Given the description of an element on the screen output the (x, y) to click on. 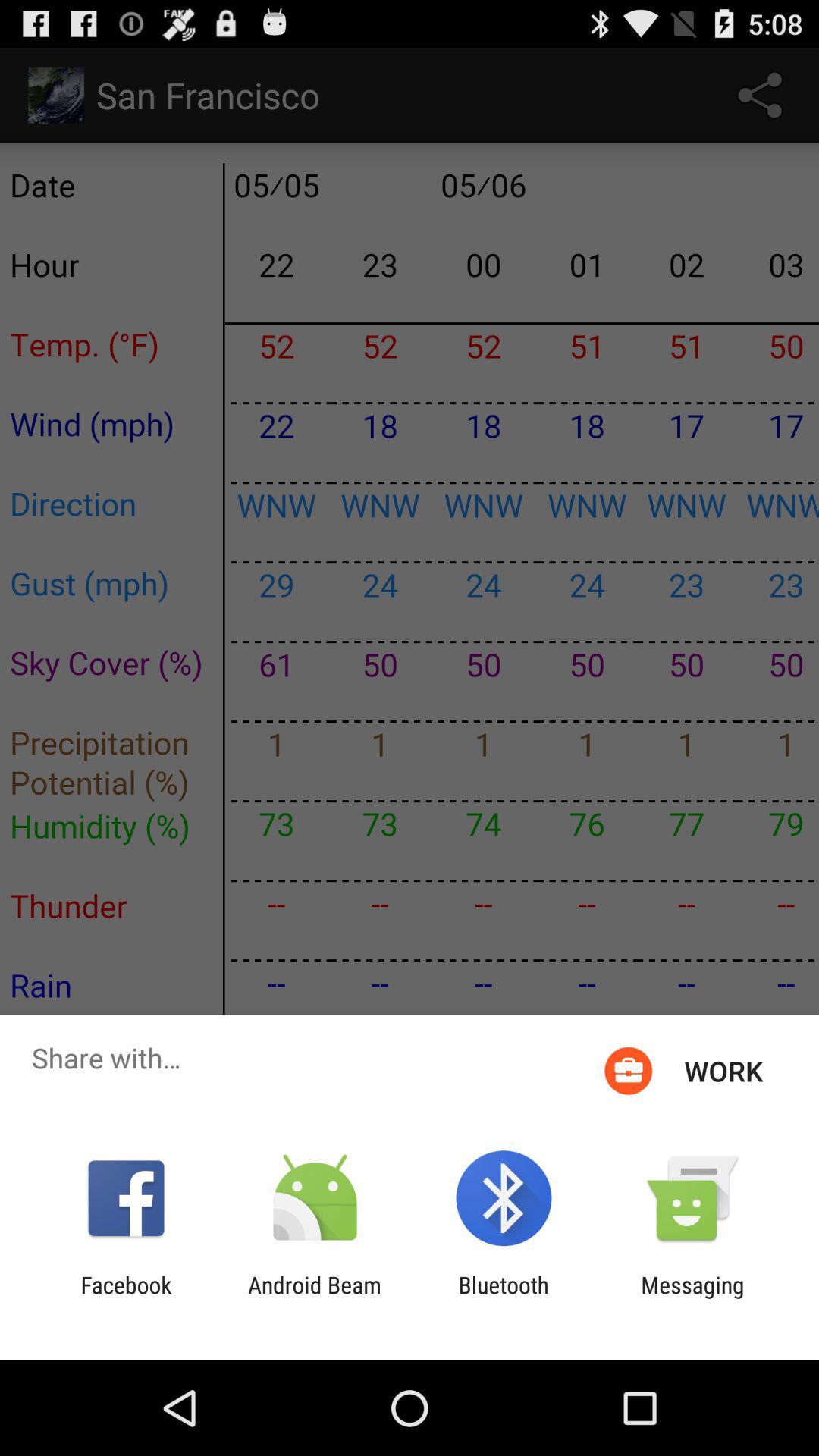
flip to the messaging item (692, 1298)
